Given the description of an element on the screen output the (x, y) to click on. 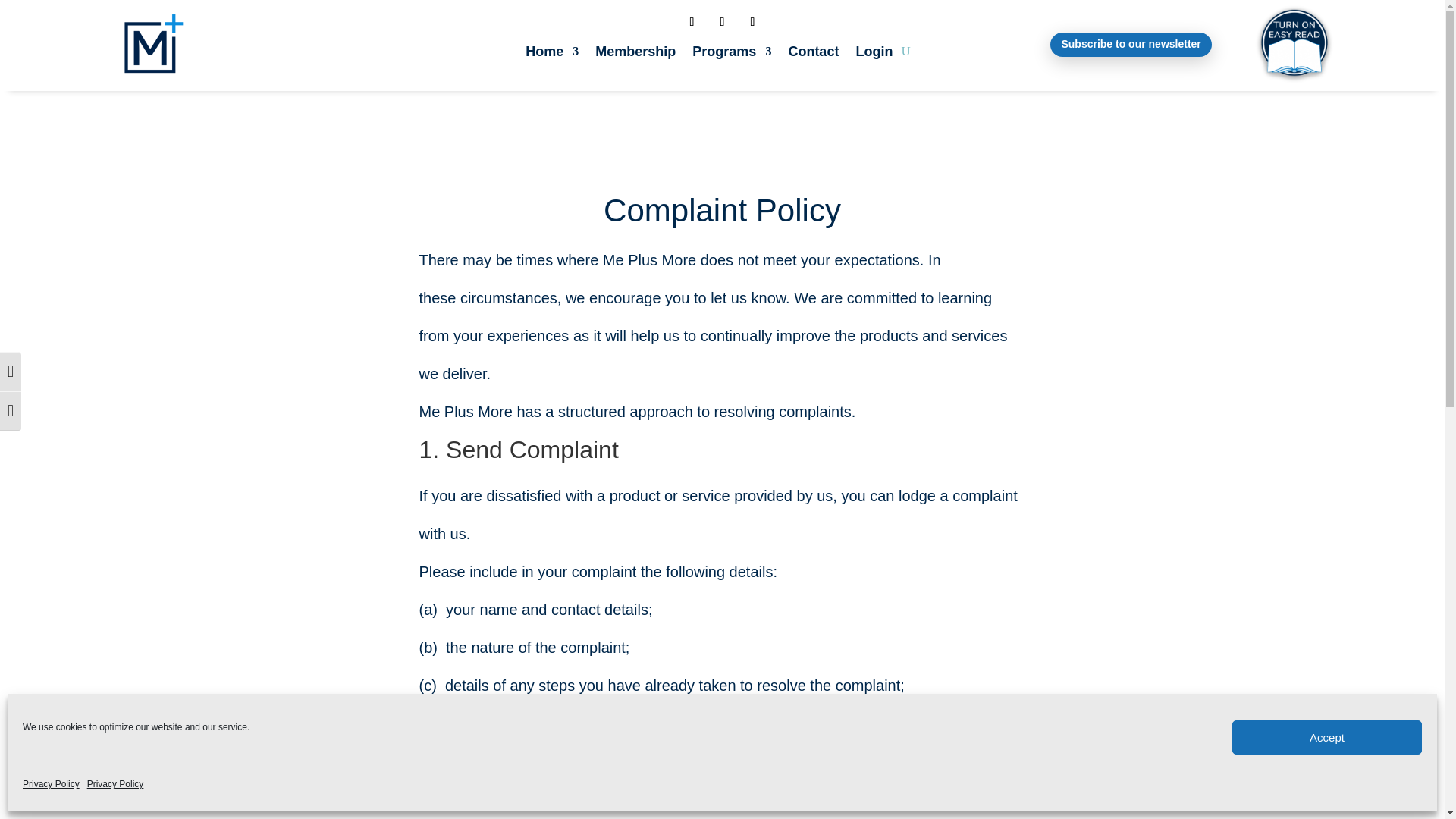
Accept (1326, 737)
Membership (635, 54)
Login (874, 54)
Privacy Policy (115, 784)
Follow on Facebook (691, 21)
Follow on Instagram (721, 21)
Home (551, 54)
Turn On Easy Read (1293, 42)
Contact (812, 54)
Programs (732, 54)
Follow on Pinterest (751, 21)
Me Plus More, Independence for all (150, 45)
Privacy Policy (51, 784)
